Given the description of an element on the screen output the (x, y) to click on. 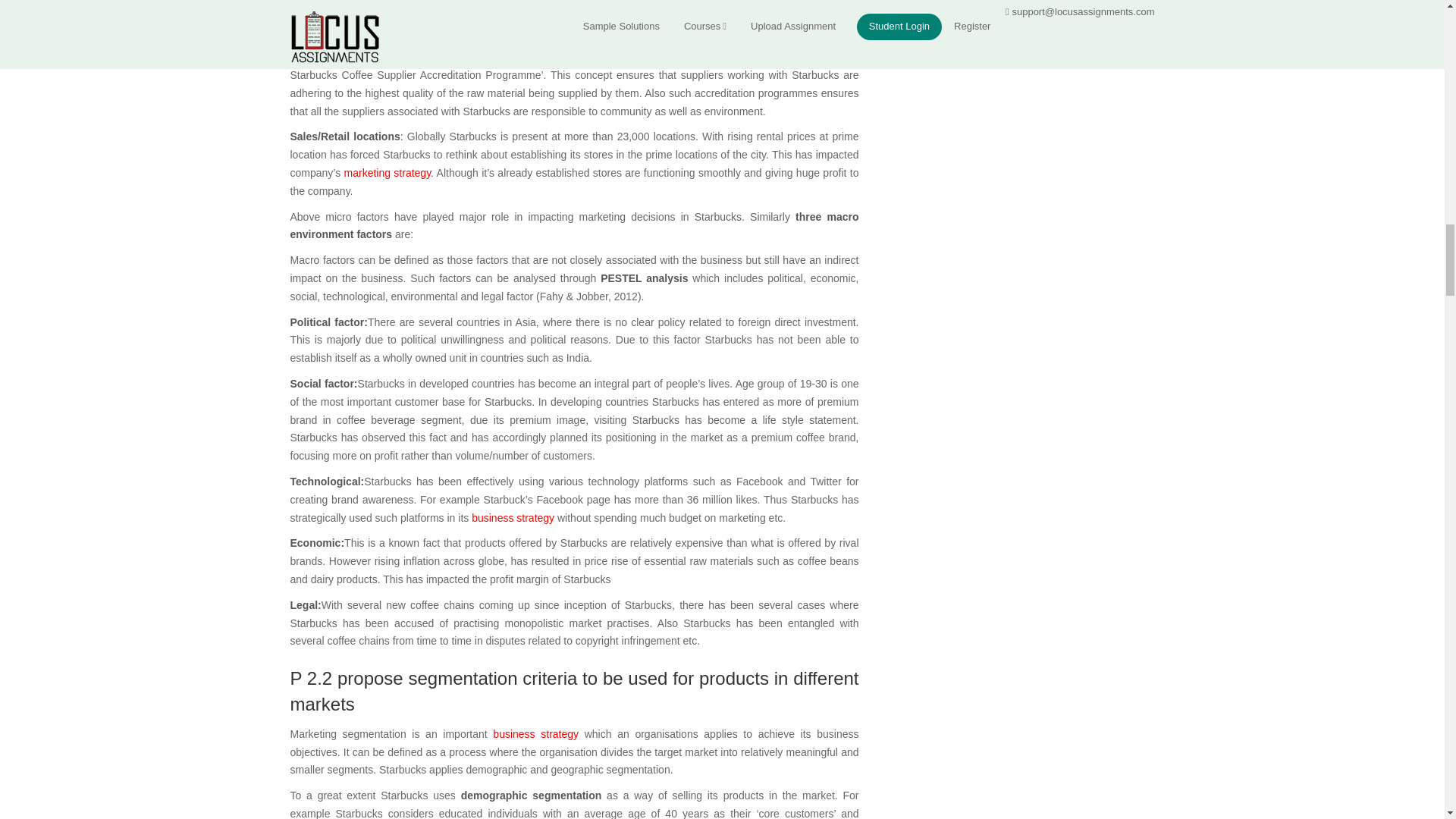
marketing strategy (386, 173)
business strategy (512, 517)
business strategy (535, 734)
